Given the description of an element on the screen output the (x, y) to click on. 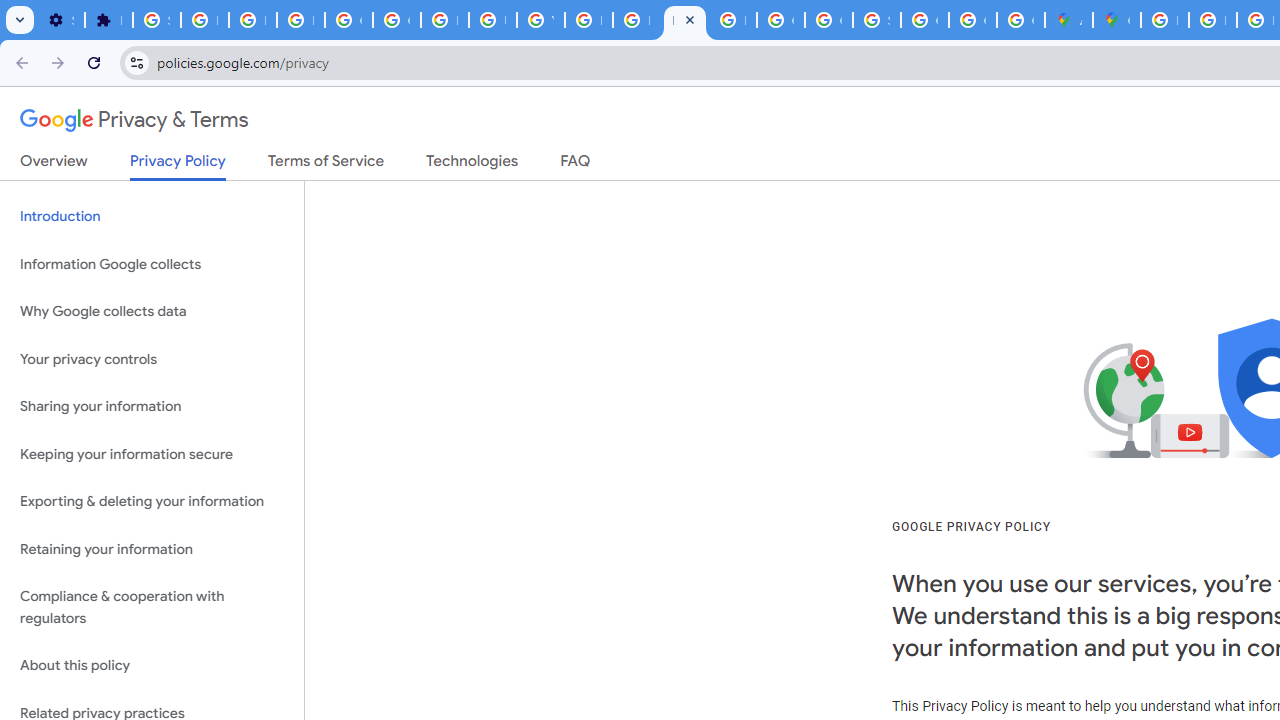
Google Account Help (348, 20)
Privacy Help Center - Policies Help (636, 20)
Settings - On startup (60, 20)
Retaining your information (152, 548)
